Given the description of an element on the screen output the (x, y) to click on. 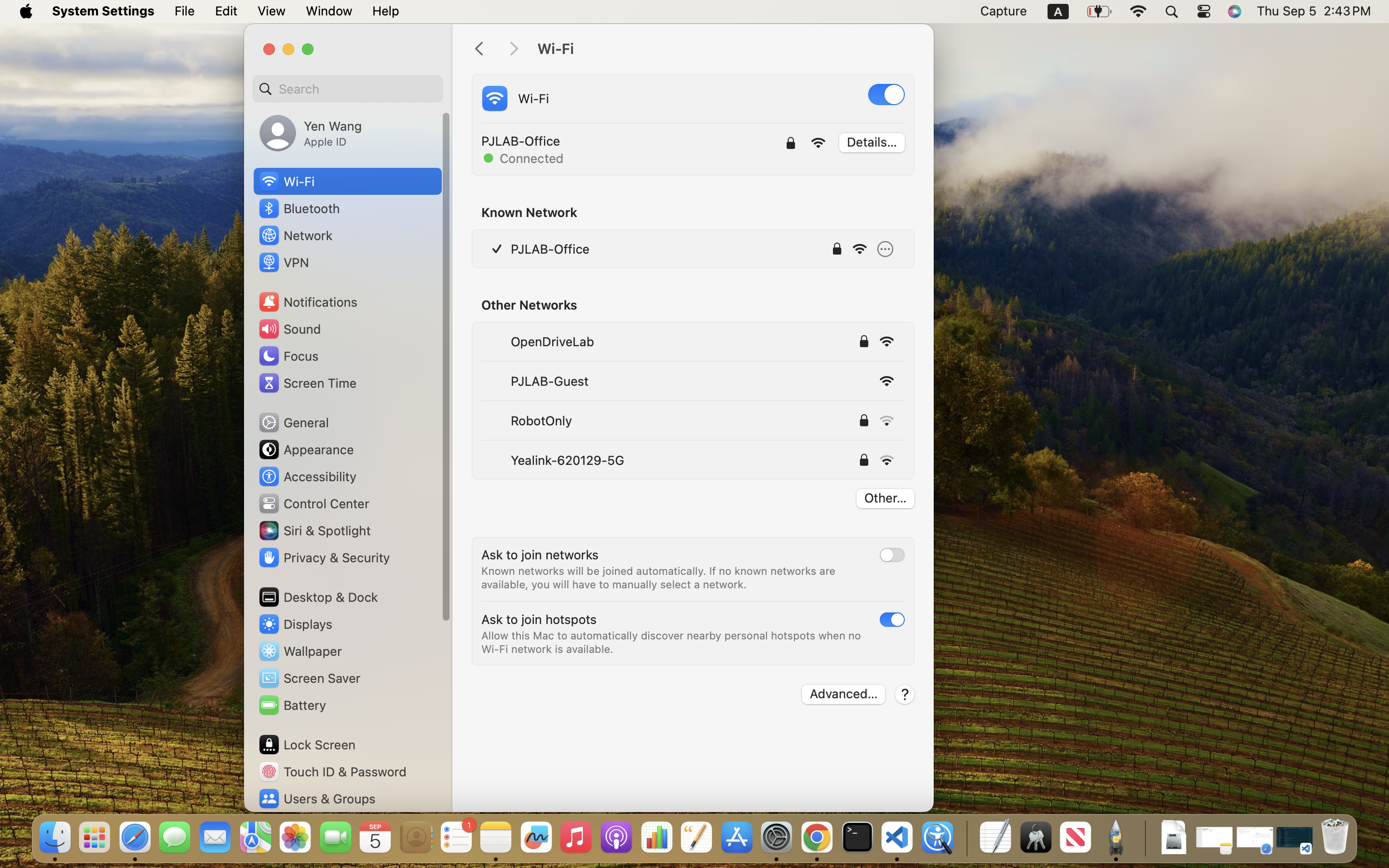
Displays Element type: AXStaticText (294, 623)
Accessibility Element type: AXStaticText (306, 476)
Wi‑Fi Element type: AXStaticText (725, 49)
PJLAB-Office Element type: AXStaticText (549, 248)
